Given the description of an element on the screen output the (x, y) to click on. 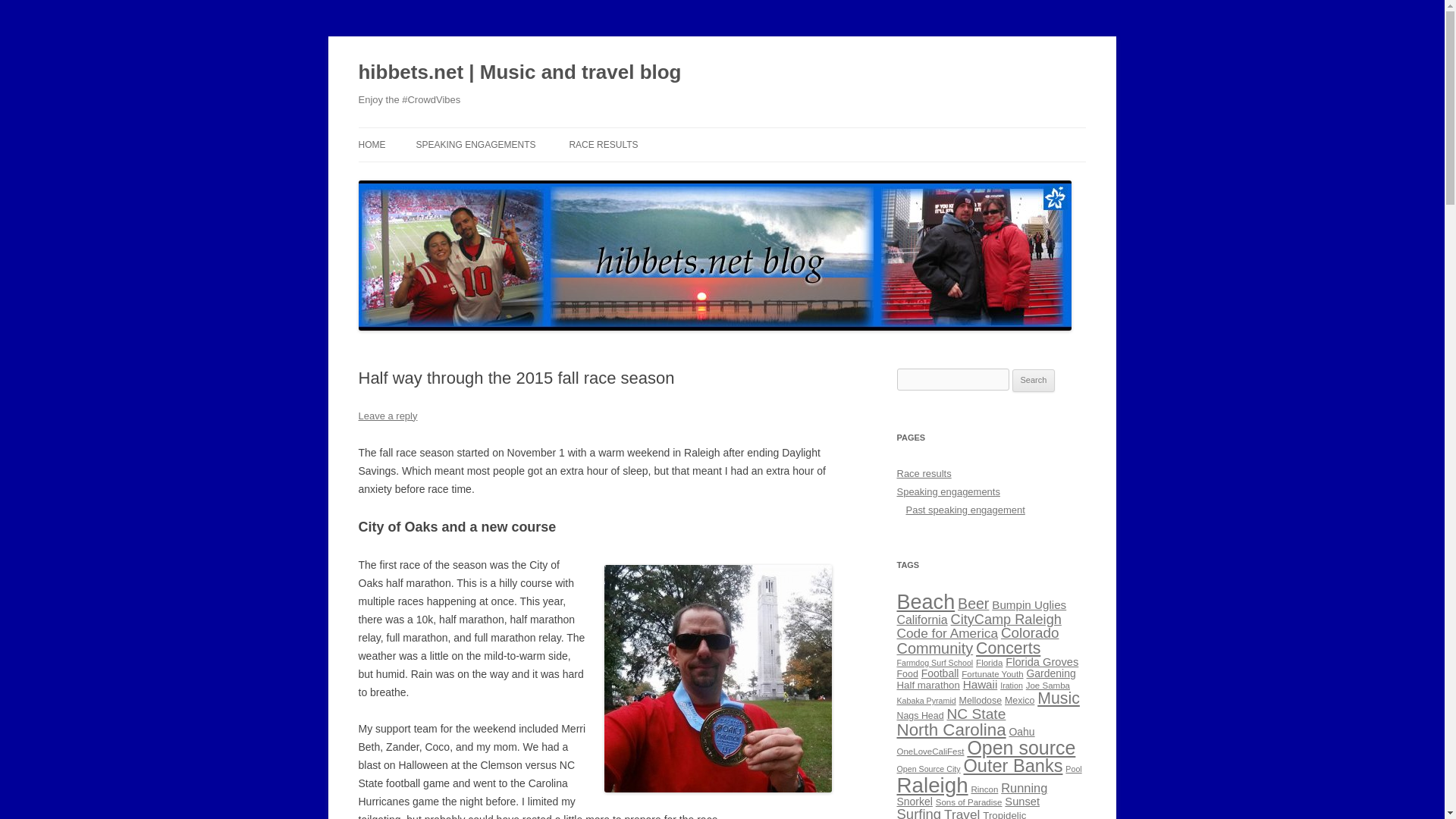
Race results (923, 473)
Beach (925, 601)
PAST SPEAKING ENGAGEMENT (490, 176)
Past speaking engagement (965, 509)
Search (1033, 380)
RACE RESULTS (603, 144)
SPEAKING ENGAGEMENTS (474, 144)
Speaking engagements (947, 491)
Search (1033, 380)
